Given the description of an element on the screen output the (x, y) to click on. 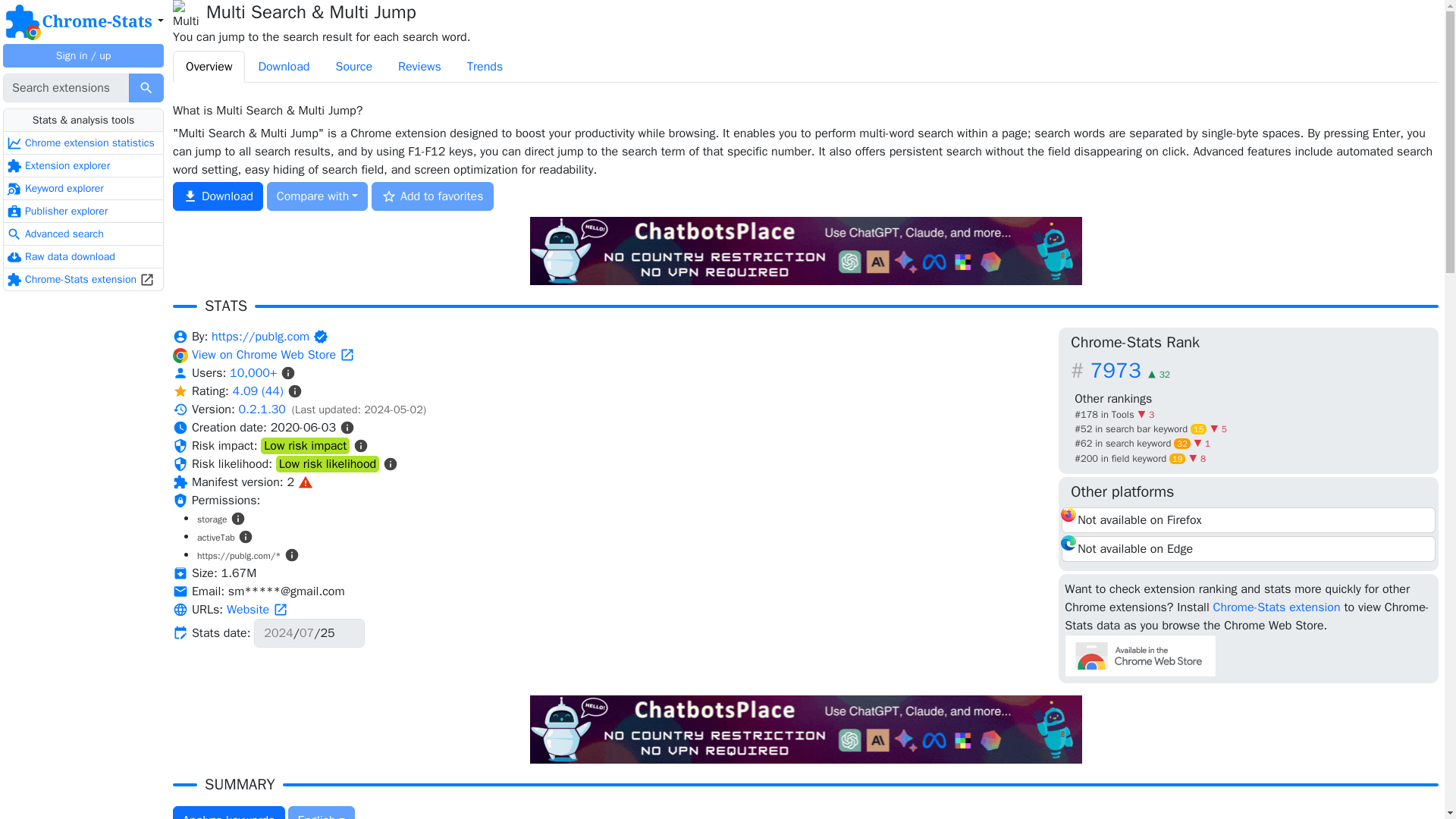
Overview (208, 66)
Compared to one week ago (1200, 443)
Chrome-Stats extension (82, 279)
Add to favorites (432, 195)
Compared to one week ago (1196, 458)
Website (257, 609)
Compared to one week ago (1158, 374)
Trends (484, 66)
Publisher explorer (82, 210)
Download (218, 195)
Download (282, 66)
Compared to one week ago (1218, 428)
Compare with (317, 195)
Advanced search (82, 233)
View on Chrome Web Store (273, 354)
